Given the description of an element on the screen output the (x, y) to click on. 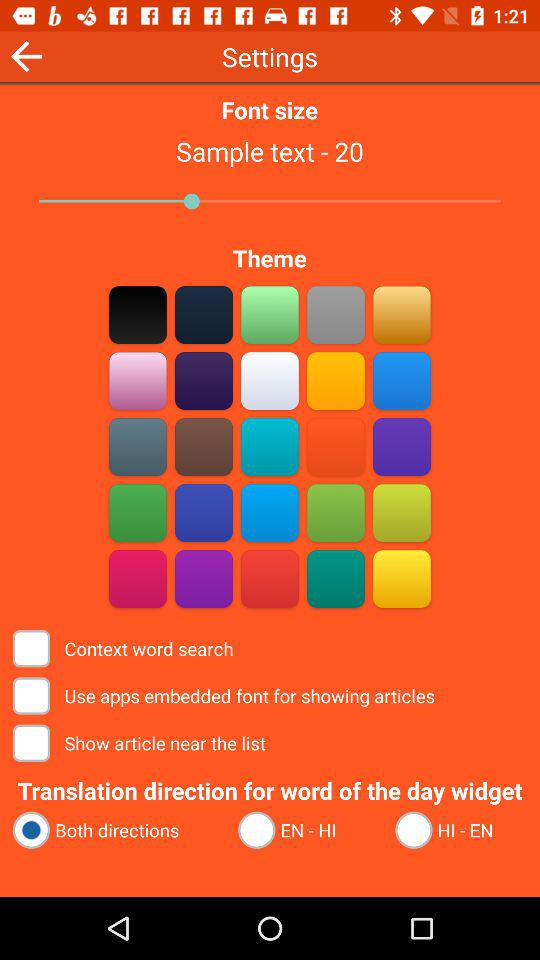
toggle a color select option (335, 314)
